Given the description of an element on the screen output the (x, y) to click on. 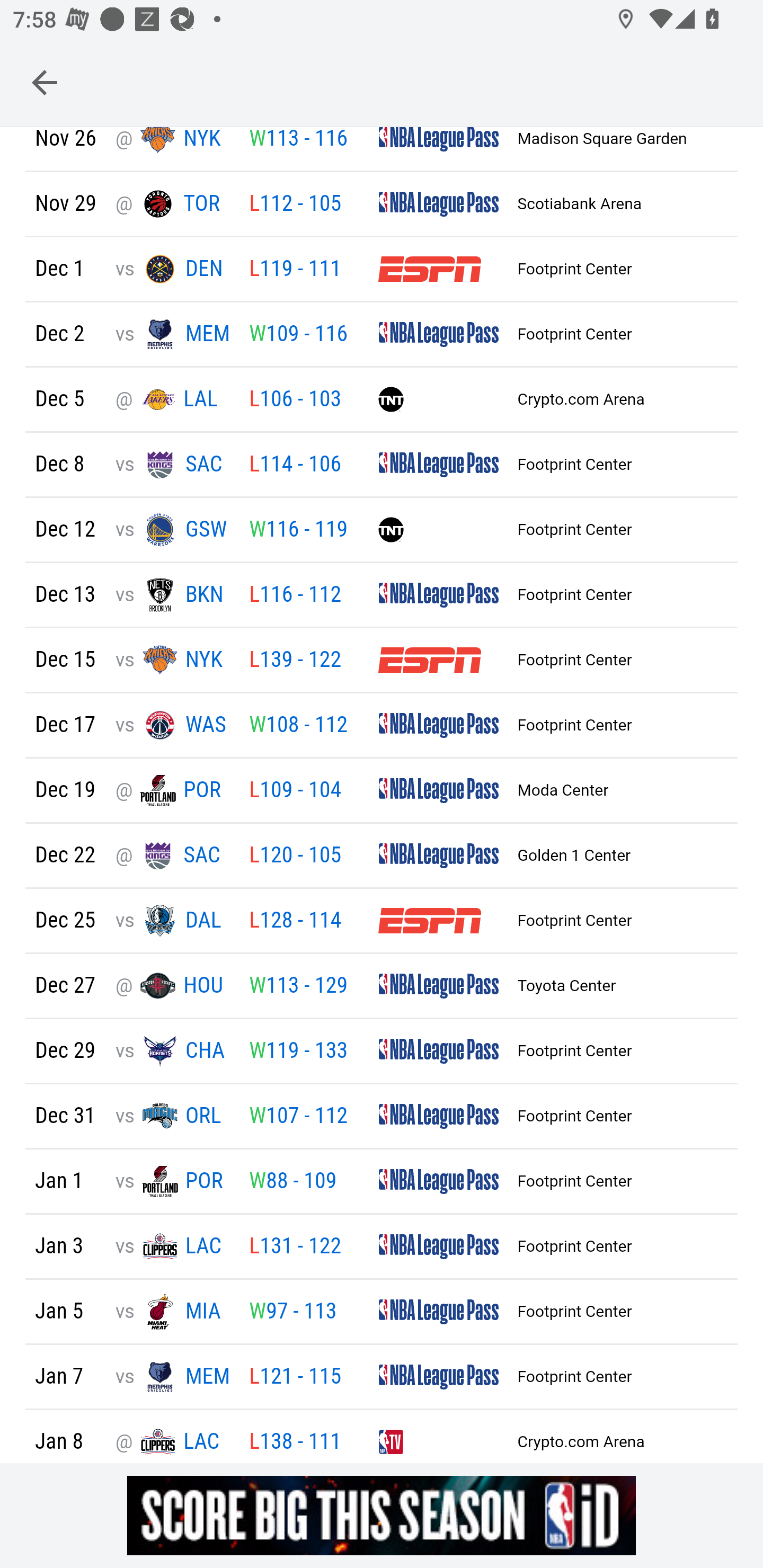
Navigate up (44, 82)
@ NYK Logo NYK @ NYK Logo NYK (172, 143)
W113 - 116 W 113 - 116 (297, 140)
@ TOR Logo TOR @ TOR Logo TOR (172, 205)
L112 - 105 L 112 - 105 (294, 205)
vs DEN Logo DEN vs DEN Logo DEN (172, 270)
L119 - 111 L 119 - 111 (294, 270)
vs MEM Logo MEM vs MEM Logo MEM (172, 335)
W109 - 116 W 109 - 116 (297, 336)
@ LAL Logo LAL @ LAL Logo LAL (172, 401)
L106 - 103 L 106 - 103 (294, 401)
vs SAC Logo SAC vs SAC Logo SAC (172, 466)
L114 - 106 L 114 - 106 (294, 466)
vs GSW Logo GSW vs GSW Logo GSW (172, 531)
W116 - 119 W 116 - 119 (297, 531)
vs BKN Logo BKN vs BKN Logo BKN (172, 596)
L116 - 112 L 116 - 112 (294, 596)
vs NYK Logo NYK vs NYK Logo NYK (172, 661)
L139 - 122 L 139 - 122 (294, 662)
vs WAS Logo WAS vs WAS Logo WAS (172, 726)
W108 - 112 W 108 - 112 (297, 726)
@ POR Logo POR @ POR Logo POR (172, 792)
L109 - 104 L 109 - 104 (294, 792)
@ SAC Logo SAC @ SAC Logo SAC (172, 856)
L120 - 105 L 120 - 105 (294, 856)
vs DAL Logo DAL vs DAL Logo DAL (172, 922)
L128 - 114 L 128 - 114 (294, 922)
@ HOU Logo HOU @ HOU Logo HOU (172, 987)
W113 - 129 W 113 - 129 (297, 987)
vs CHA Logo CHA vs CHA Logo CHA (172, 1052)
W119 - 133 W 119 - 133 (297, 1052)
vs ORL Logo ORL vs ORL Logo ORL (172, 1117)
W107 - 112 W 107 - 112 (297, 1117)
vs POR Logo POR vs POR Logo POR (172, 1182)
W88 - 109 W 88 - 109 (292, 1182)
vs LAC Logo LAC vs LAC Logo LAC (172, 1247)
L131 - 122 L 131 - 122 (294, 1248)
vs MIA Logo MIA vs MIA Logo MIA (172, 1312)
W97 - 113 W 97 - 113 (292, 1312)
vs MEM Logo MEM vs MEM Logo MEM (172, 1378)
L121 - 115 L 121 - 115 (294, 1378)
@ LAC Logo LAC @ LAC Logo LAC (172, 1442)
L138 - 111 L 138 - 111 (294, 1443)
g5nqqygr7owph (381, 1515)
